Given the description of an element on the screen output the (x, y) to click on. 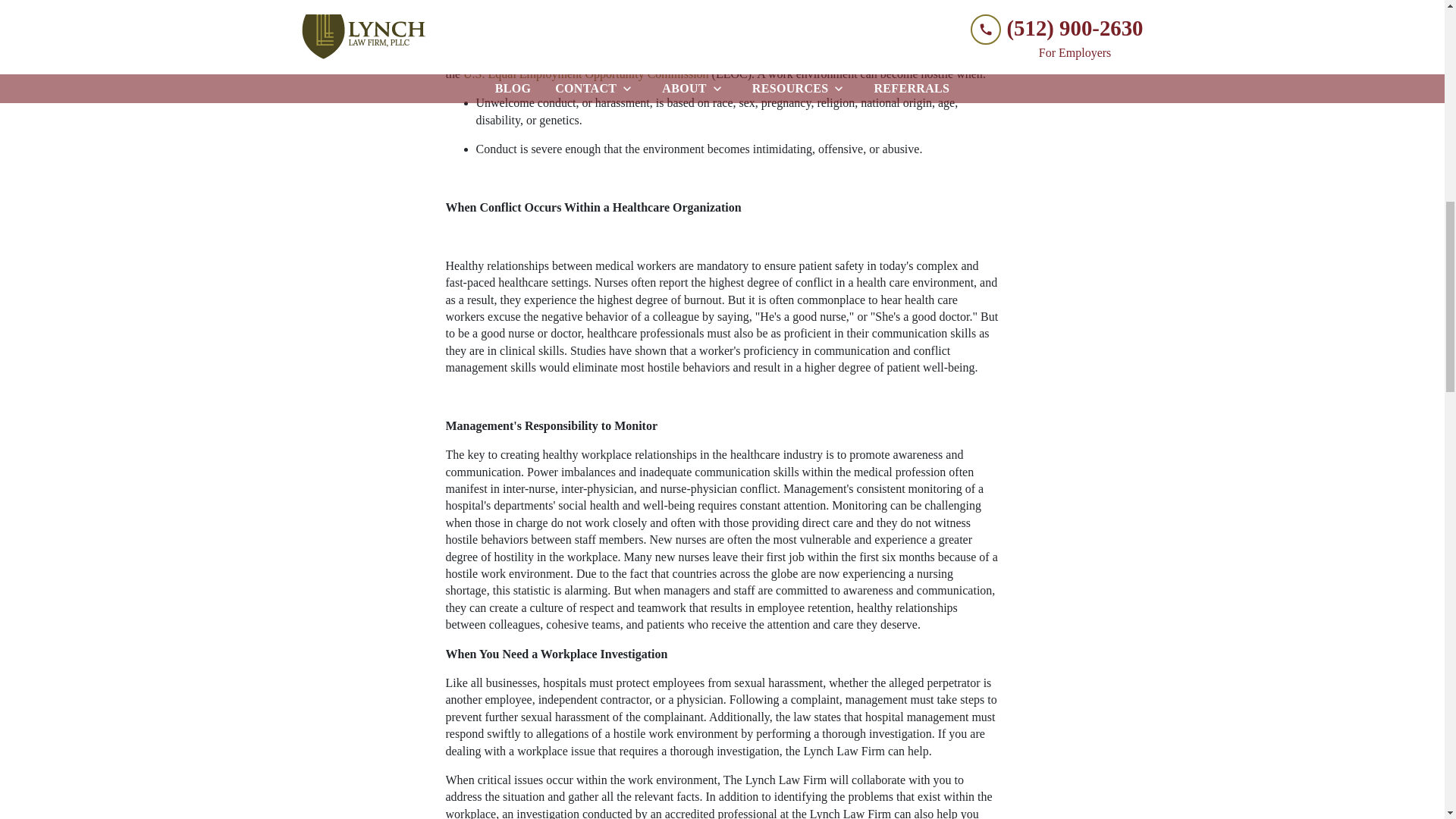
U.S. Equal Employment Opportunity Commission (586, 73)
